Given the description of an element on the screen output the (x, y) to click on. 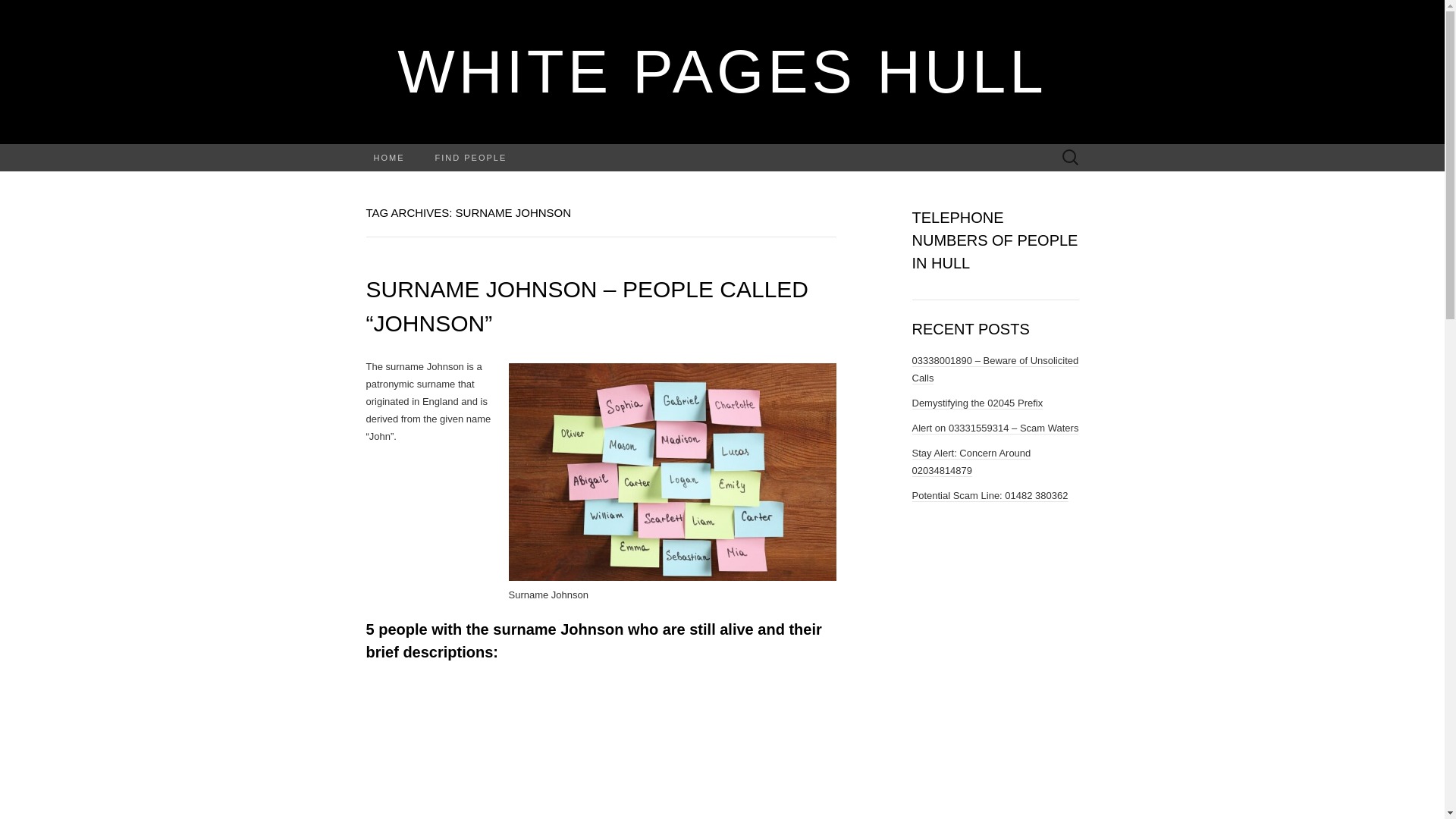
Advertisement (652, 749)
Search (16, 12)
WHITE PAGES HULL (721, 71)
HOME (388, 157)
Advertisement (459, 749)
Stay Alert: Concern Around 02034814879 (970, 461)
FIND PEOPLE (471, 157)
White Pages Hull (721, 71)
Potential Scam Line: 01482 380362 (989, 495)
Demystifying the 02045 Prefix (976, 403)
